Given the description of an element on the screen output the (x, y) to click on. 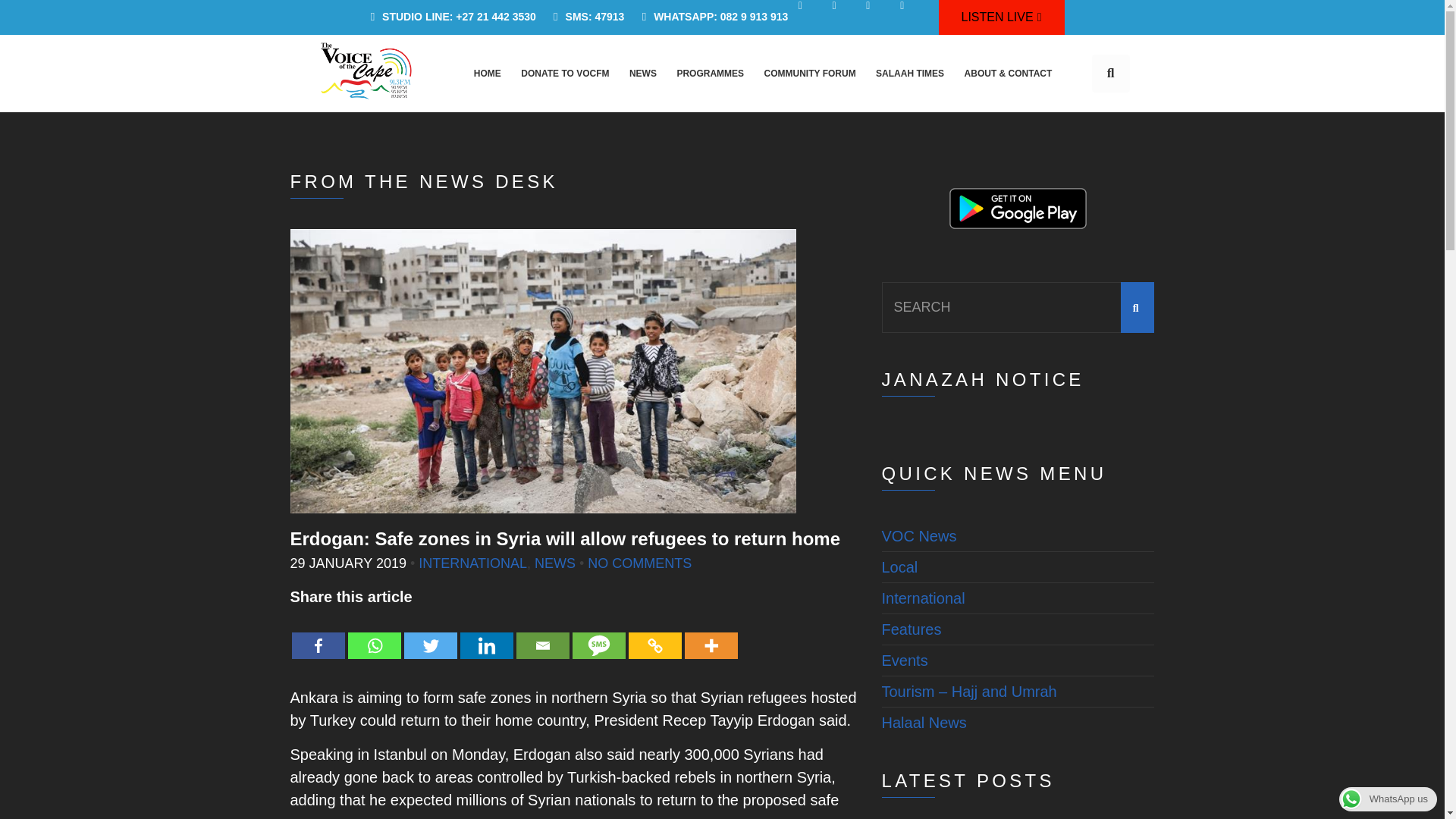
SMS (598, 634)
HOME (486, 73)
Twitter (430, 634)
Facebook (317, 634)
Email (542, 634)
SALAAH TIMES (909, 73)
More (710, 634)
NEWS (642, 73)
Whatsapp (373, 634)
PROGRAMMES (709, 73)
